Given the description of an element on the screen output the (x, y) to click on. 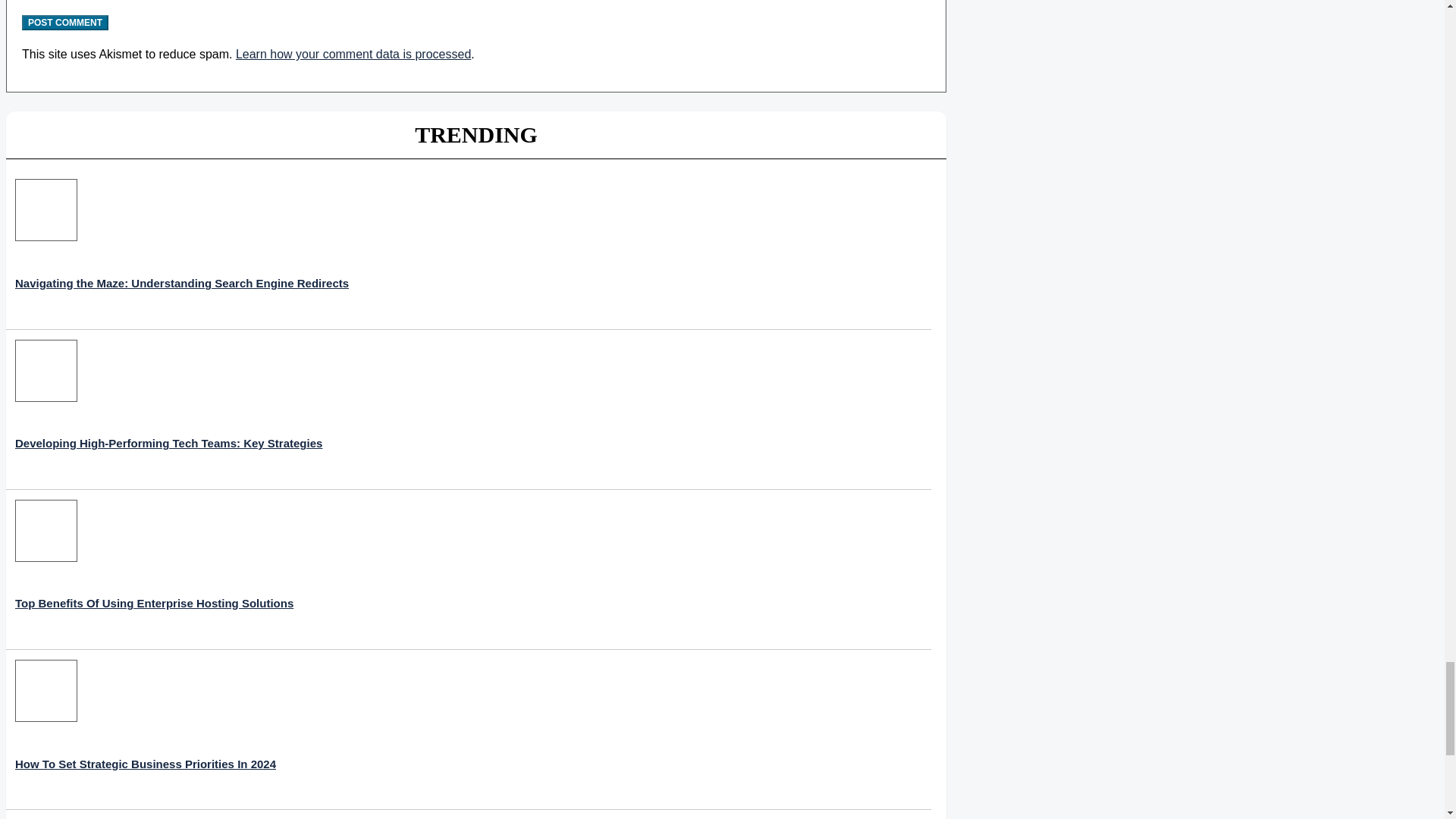
Post Comment (64, 22)
How To Set Strategic Business Priorities In 2024 (145, 730)
Developing High-Performing Tech Teams: Key Strategies (167, 409)
Navigating the Maze: Understanding Search Engine Redirects (181, 249)
Top Benefits Of Using Enterprise Hosting Solutions (154, 569)
